Given the description of an element on the screen output the (x, y) to click on. 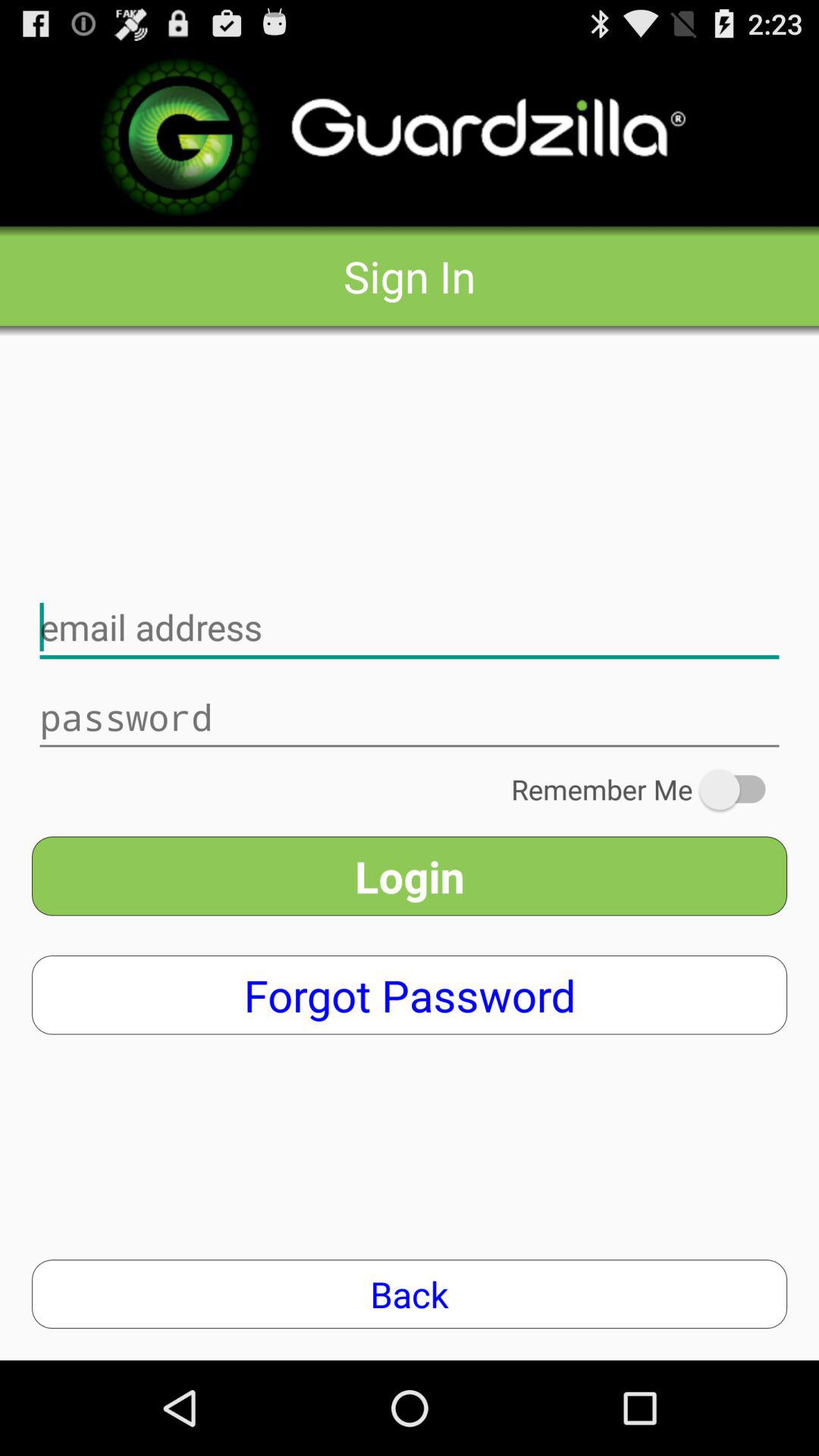
tap remember me item (649, 789)
